Given the description of an element on the screen output the (x, y) to click on. 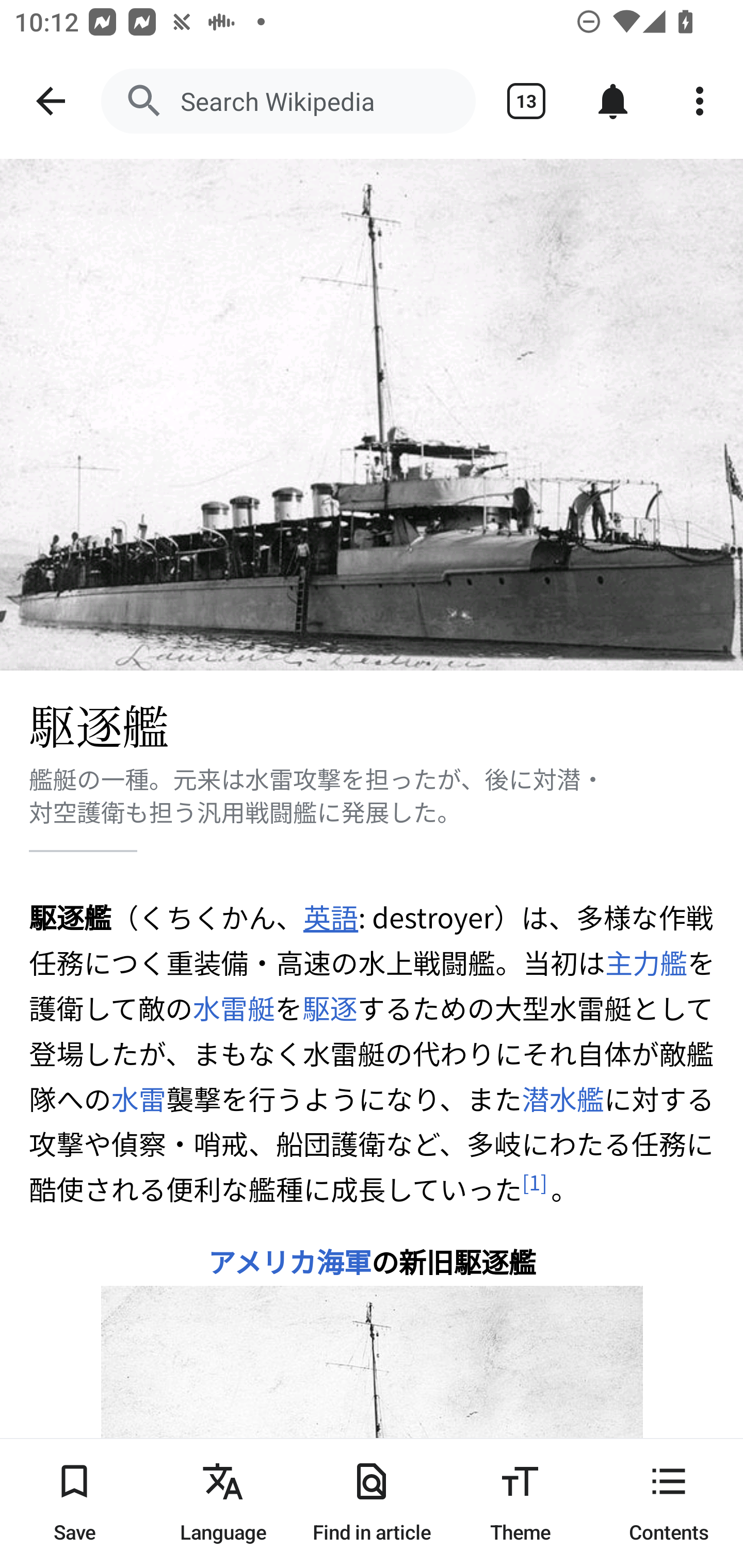
Show tabs 13 (525, 100)
Notifications (612, 100)
Navigate up (50, 101)
More options (699, 101)
Search Wikipedia (288, 100)
Image: 駆逐艦 (371, 414)
英語 (329, 917)
主力艦 (645, 962)
水雷艇 (233, 1007)
駆逐 (329, 1007)
水雷 (138, 1098)
潜水艦 (562, 1098)
[] [ 1 ] (534, 1181)
アメリカ海軍 (289, 1261)
Save (74, 1502)
Language (222, 1502)
Find in article (371, 1502)
Theme (519, 1502)
Contents (668, 1502)
